Given the description of an element on the screen output the (x, y) to click on. 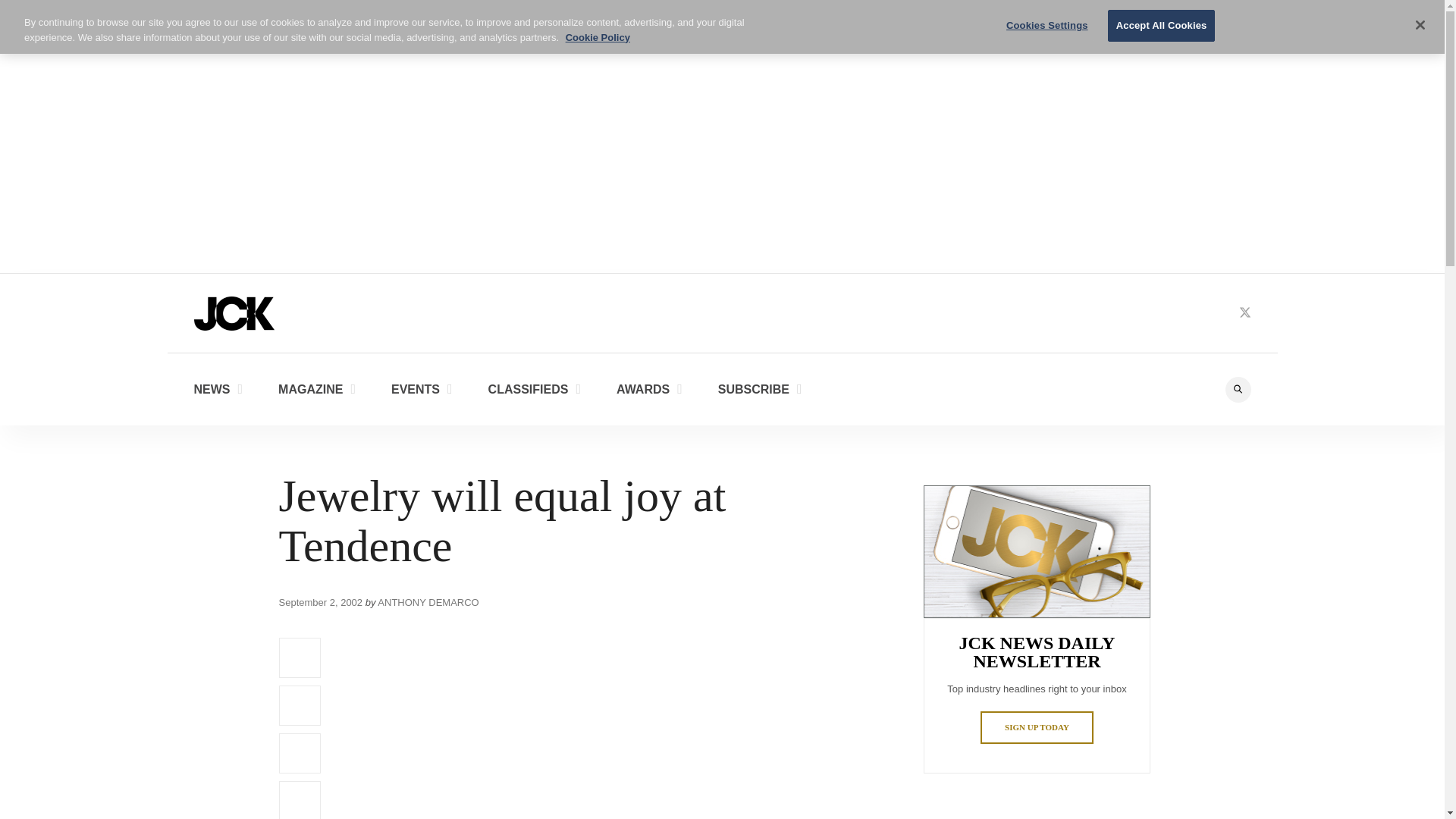
JCK (234, 312)
MAGAZINE (316, 388)
